Given the description of an element on the screen output the (x, y) to click on. 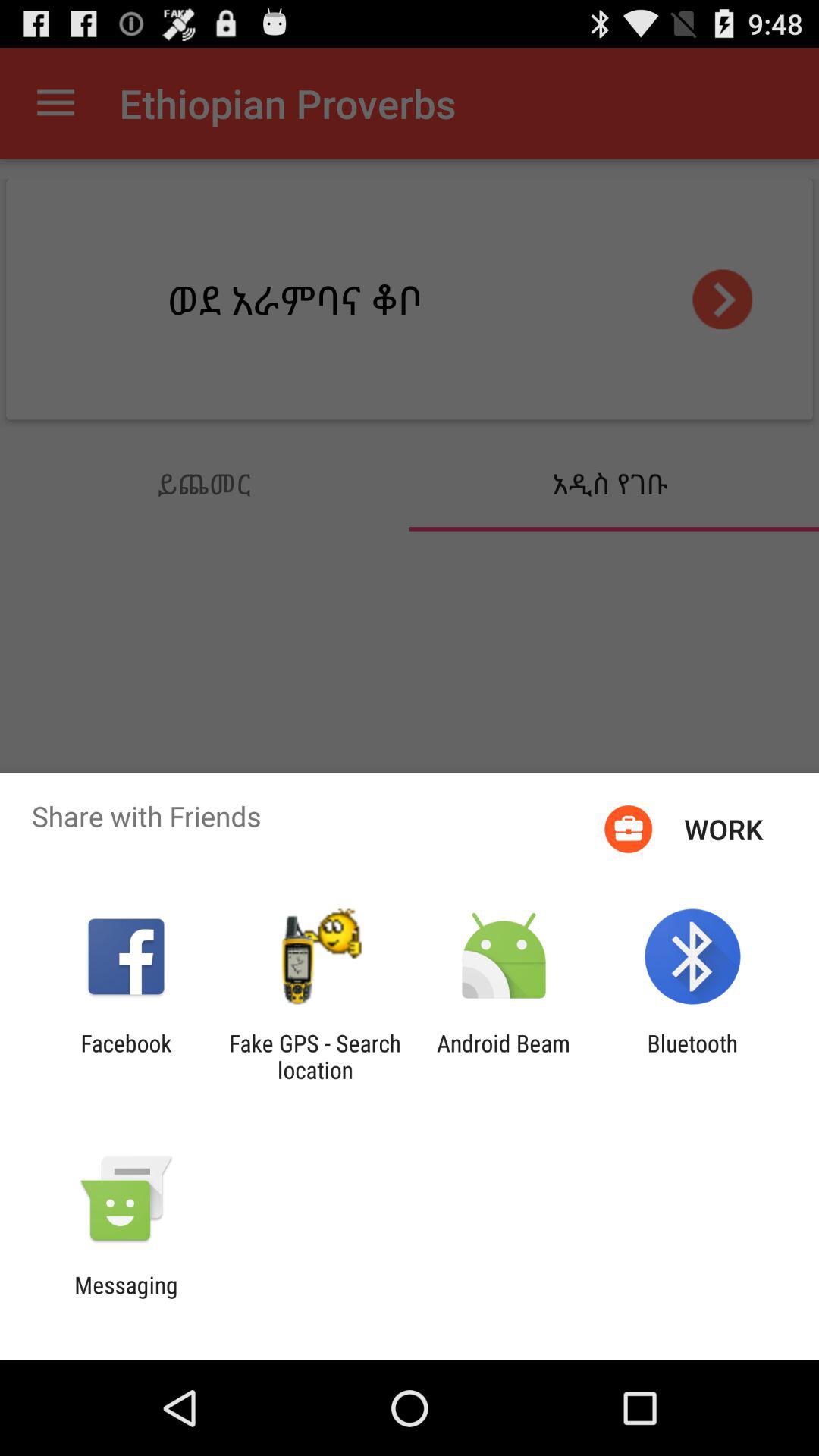
turn on facebook (125, 1056)
